Given the description of an element on the screen output the (x, y) to click on. 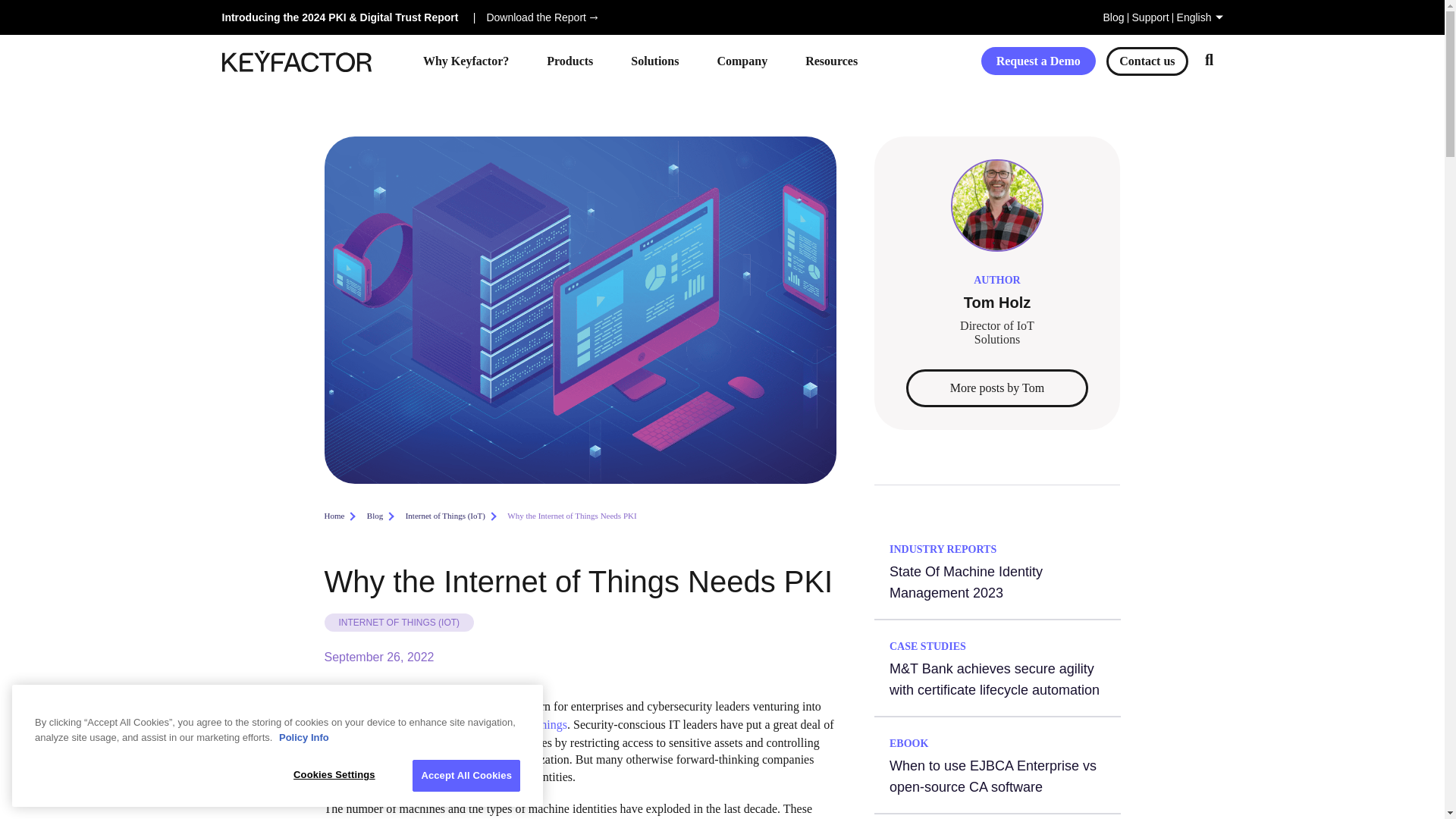
Download the Report (540, 17)
English (1199, 17)
Blog (1113, 17)
Solutions (654, 60)
Why Keyfactor? (465, 60)
Support (1150, 17)
English (1199, 17)
Products (569, 60)
